Given the description of an element on the screen output the (x, y) to click on. 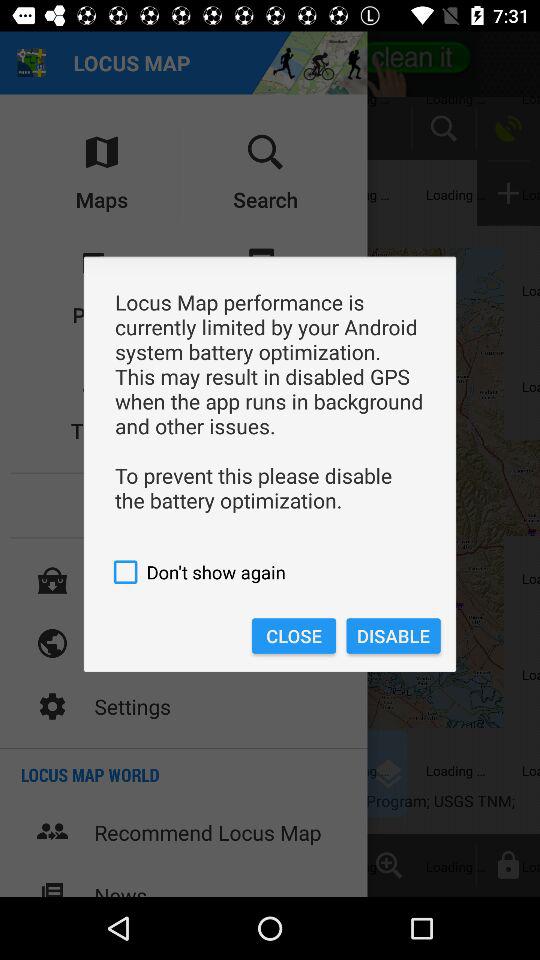
select the icon below the don t show item (293, 635)
